Given the description of an element on the screen output the (x, y) to click on. 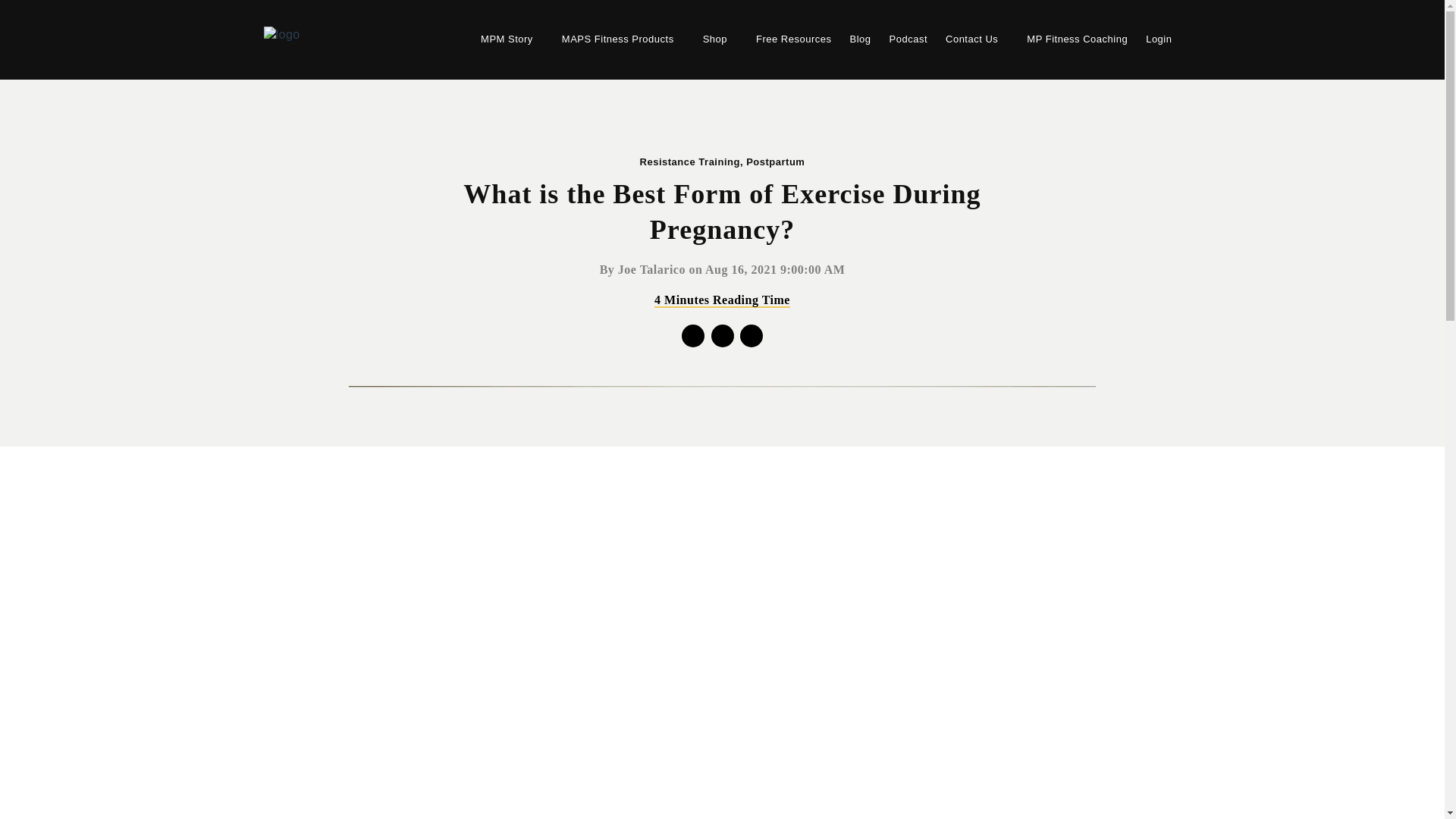
MAPS Fitness Products (617, 38)
logo (281, 34)
MPM Story (506, 38)
